Given the description of an element on the screen output the (x, y) to click on. 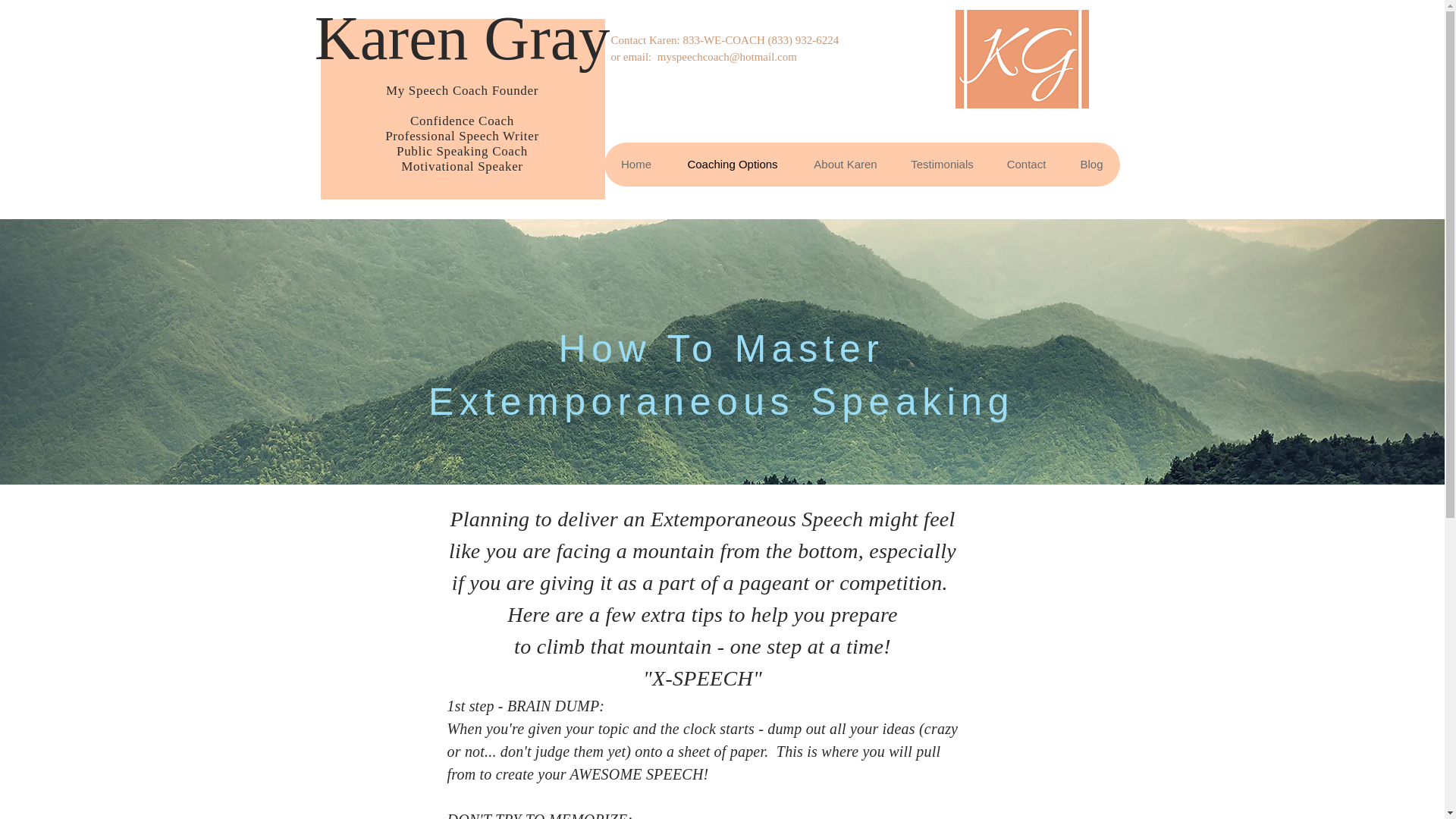
Home (636, 164)
About Karen (845, 164)
Testimonials (942, 164)
Blog (1090, 164)
Coaching Options (732, 164)
Contact (1025, 164)
